Given the description of an element on the screen output the (x, y) to click on. 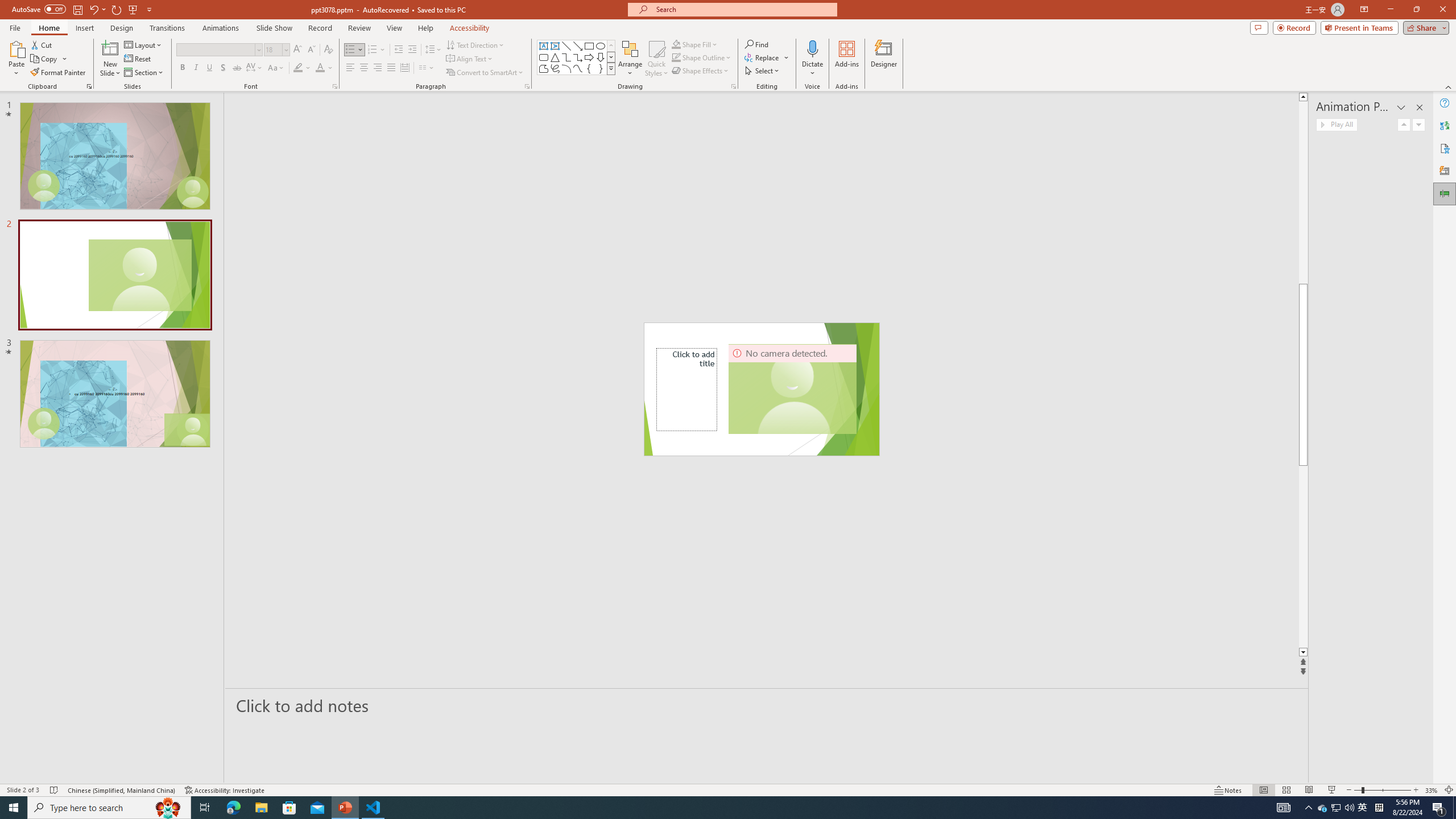
Character Spacing (254, 67)
Comments (1259, 27)
Class: NetUIImage (610, 68)
Customize Quick Access Toolbar (149, 9)
Spell Check No Errors (54, 790)
Text Highlight Color (302, 67)
Ribbon Display Options (1364, 9)
Slide Sorter (1286, 790)
Normal (1263, 790)
Line down (1302, 652)
Shape Outline (701, 56)
Line (566, 45)
From Beginning (133, 9)
Paragraph... (526, 85)
